Given the description of an element on the screen output the (x, y) to click on. 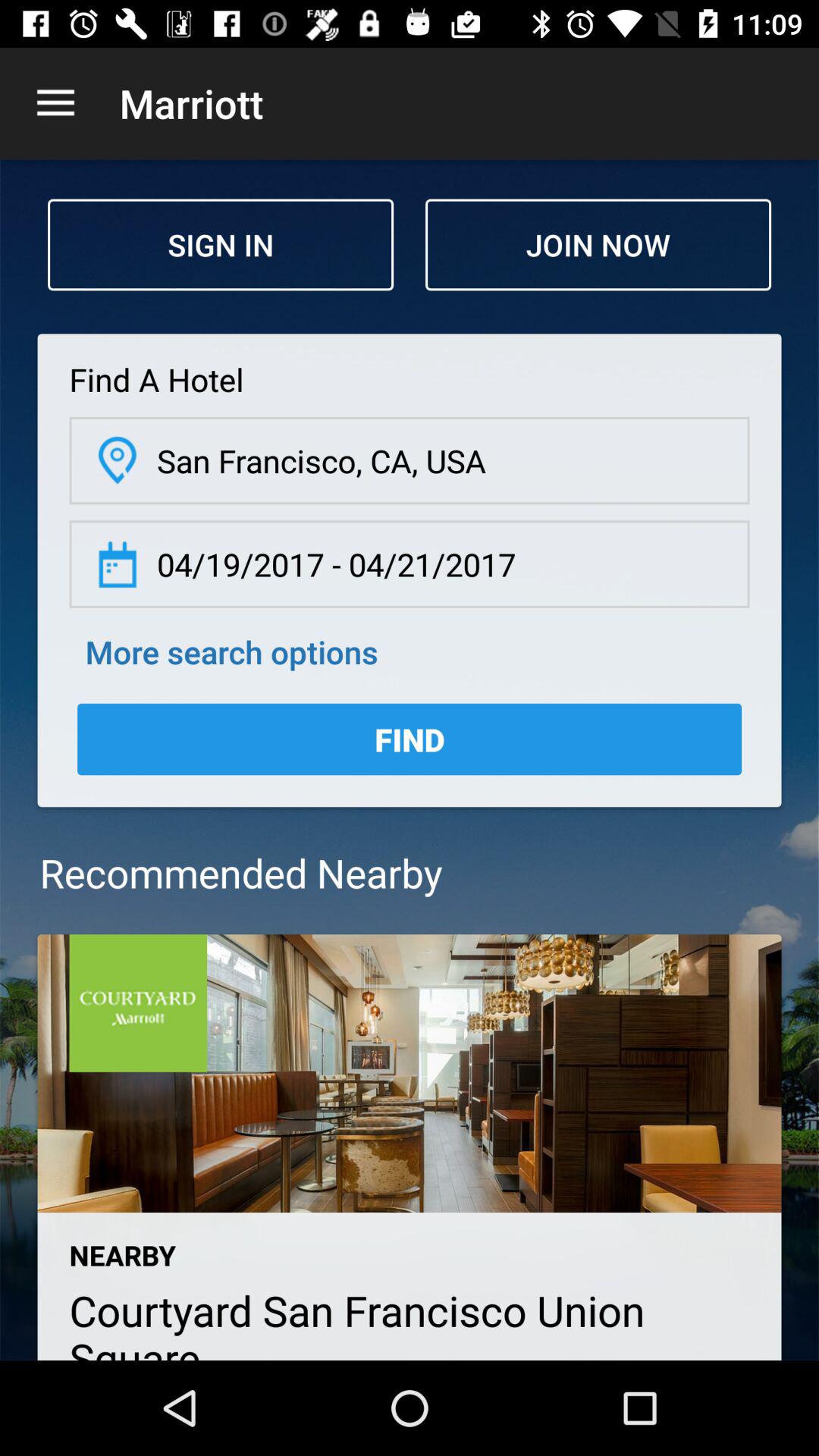
press the icon above the find a hotel (598, 244)
